Given the description of an element on the screen output the (x, y) to click on. 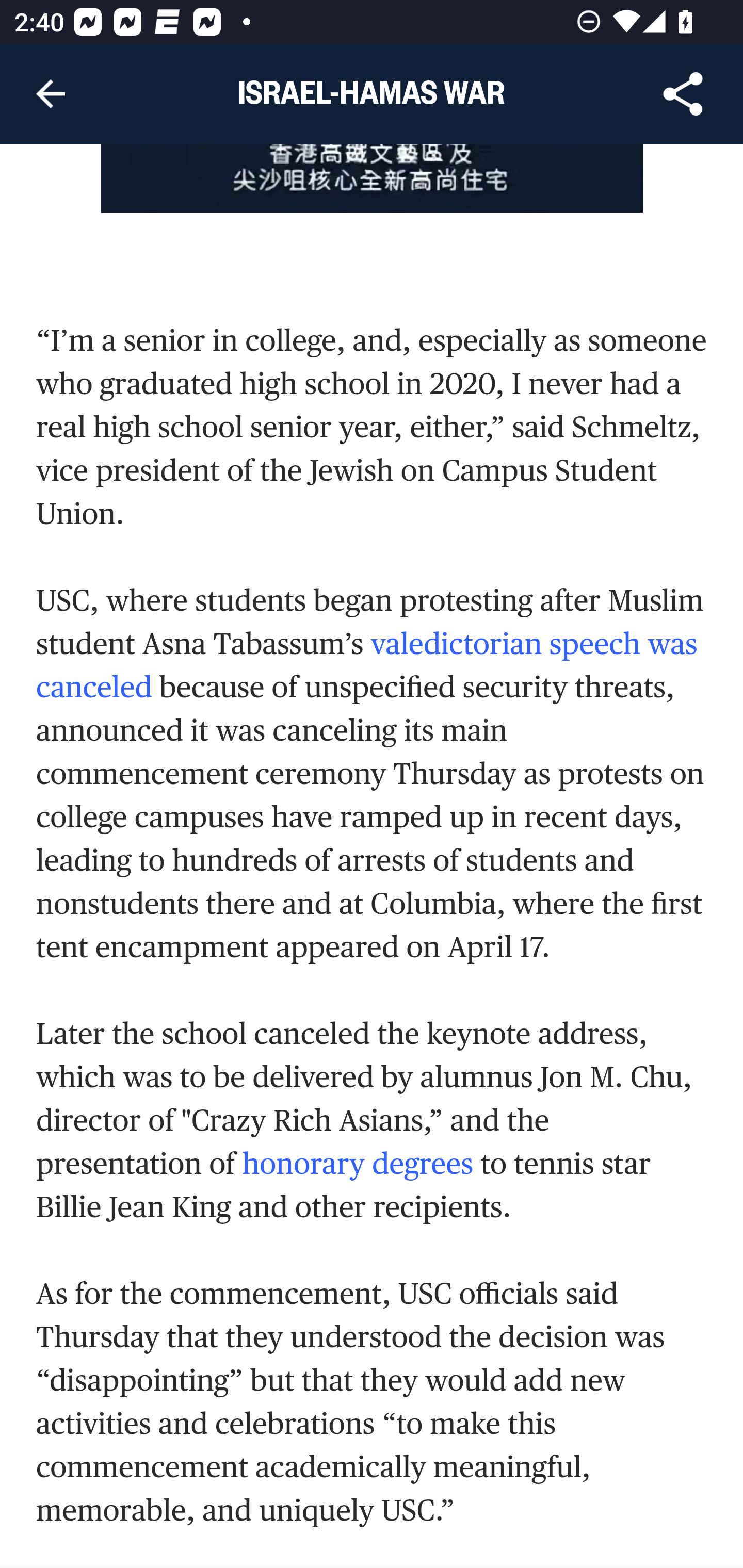
Navigate up (50, 93)
Share Article, button (683, 94)
valedictorian speech was canceled (367, 665)
honorary degrees (358, 1164)
